Given the description of an element on the screen output the (x, y) to click on. 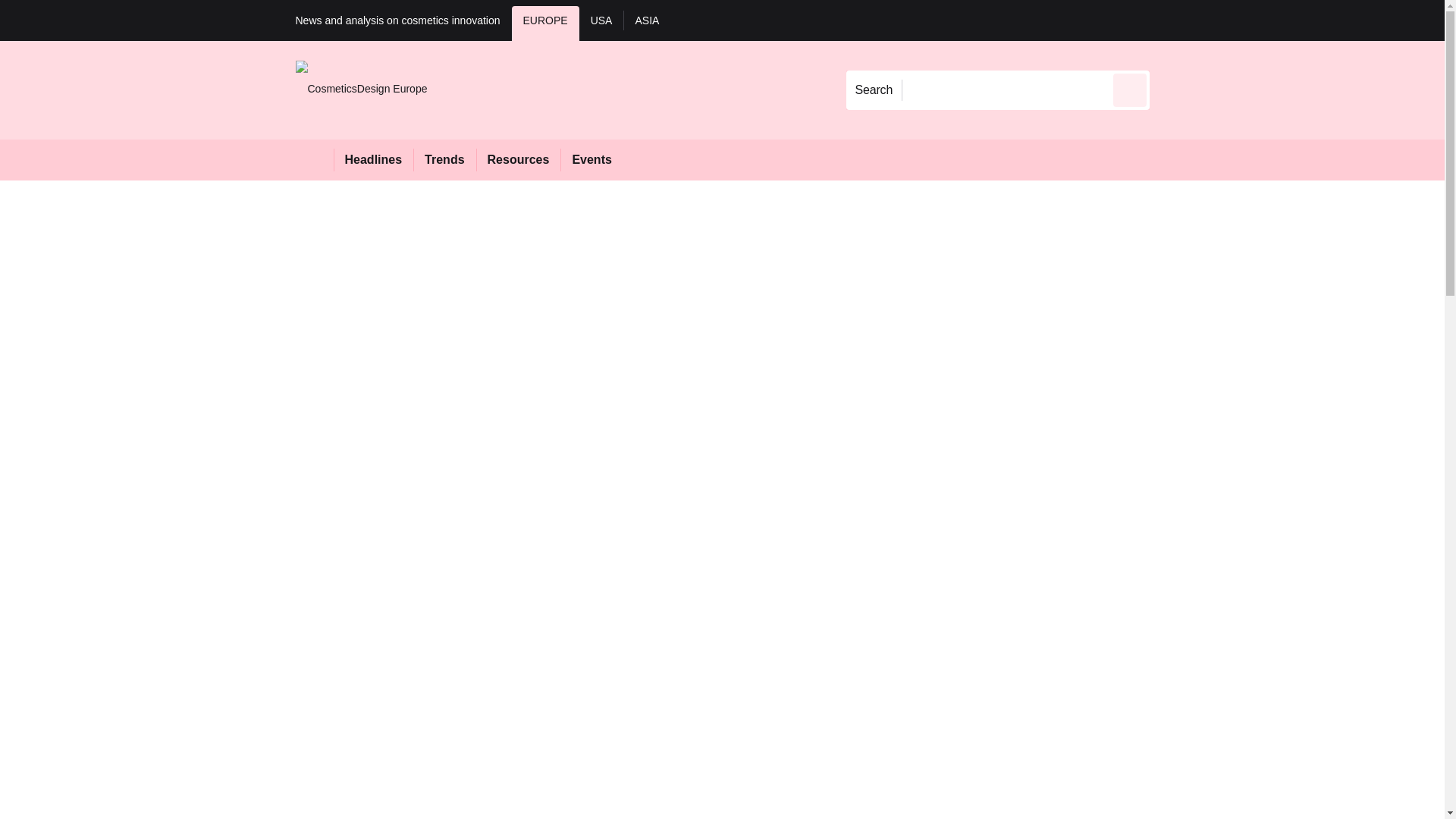
My account (1256, 20)
Send (1129, 89)
Headlines (373, 159)
Sign out (1174, 20)
Home (314, 159)
USA (601, 22)
EUROPE (545, 22)
CosmeticsDesign Europe (361, 89)
Sign in (1171, 20)
Send (1129, 90)
